Given the description of an element on the screen output the (x, y) to click on. 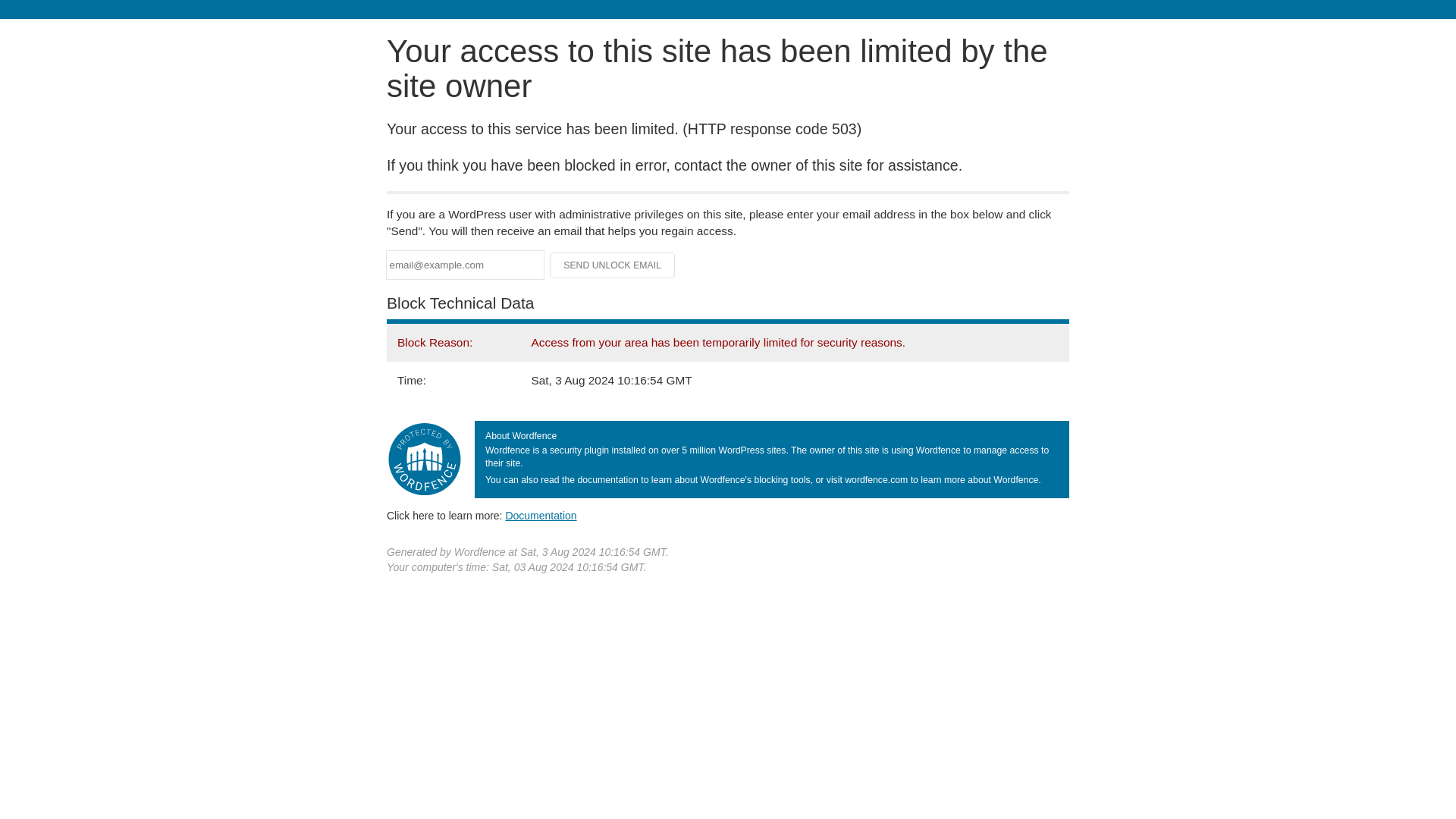
Send Unlock Email (612, 265)
Send Unlock Email (612, 265)
Documentation (540, 515)
